Given the description of an element on the screen output the (x, y) to click on. 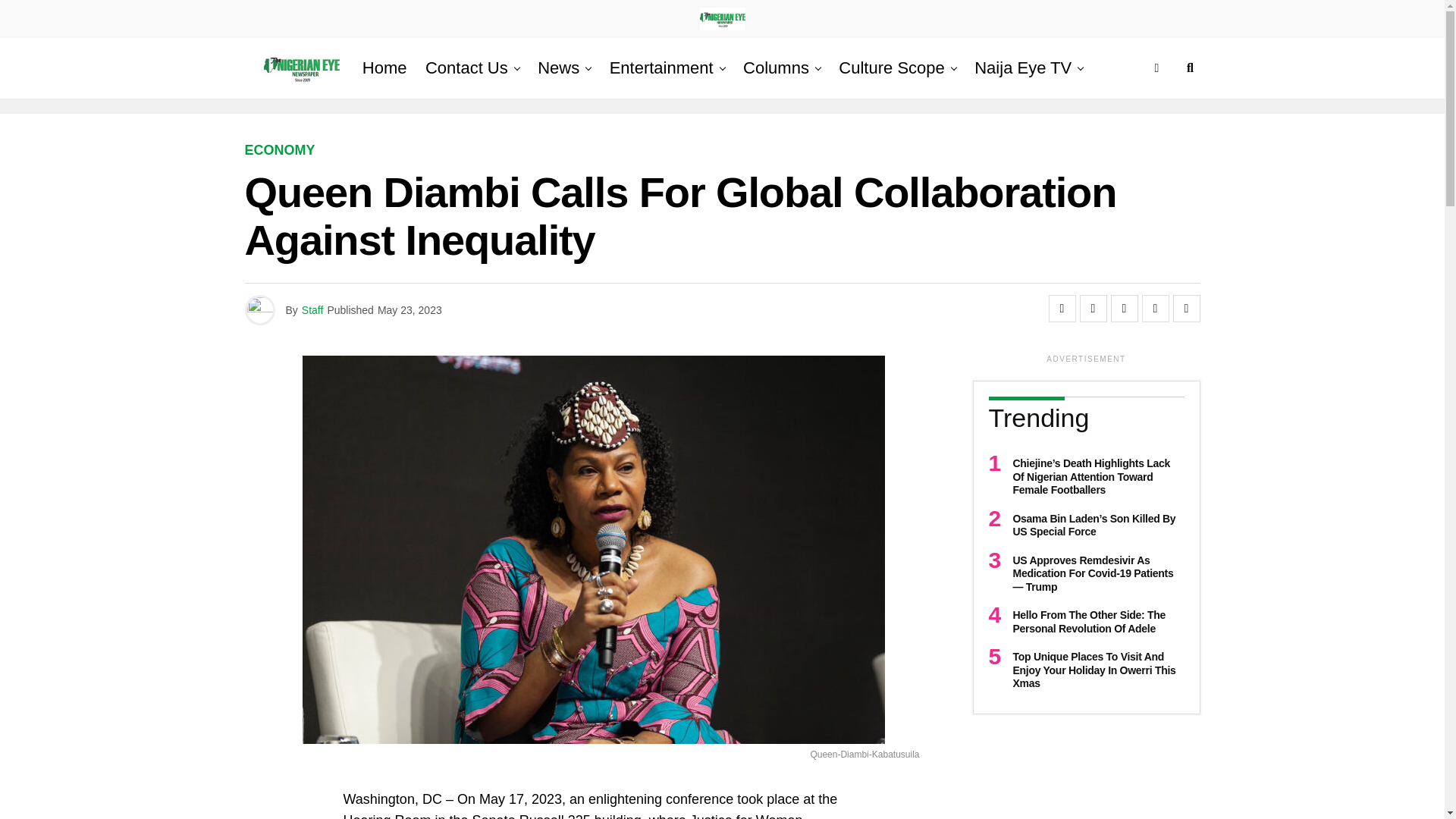
Posts by Staff (312, 309)
Home (384, 67)
News (557, 67)
Contact Us (466, 67)
Tweet This Post (1093, 308)
Share on Facebook (1061, 308)
